Given the description of an element on the screen output the (x, y) to click on. 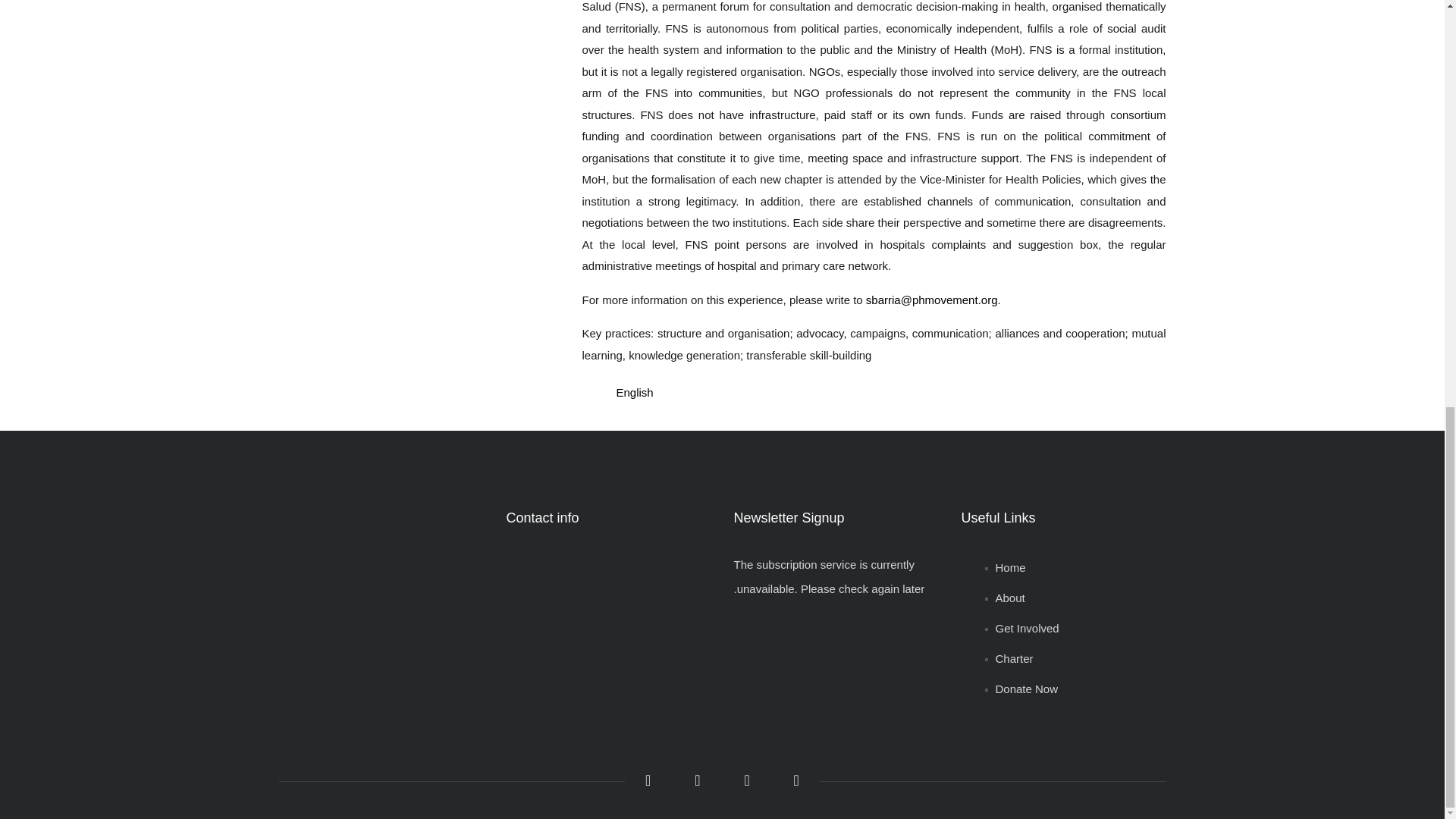
English (633, 392)
